Given the description of an element on the screen output the (x, y) to click on. 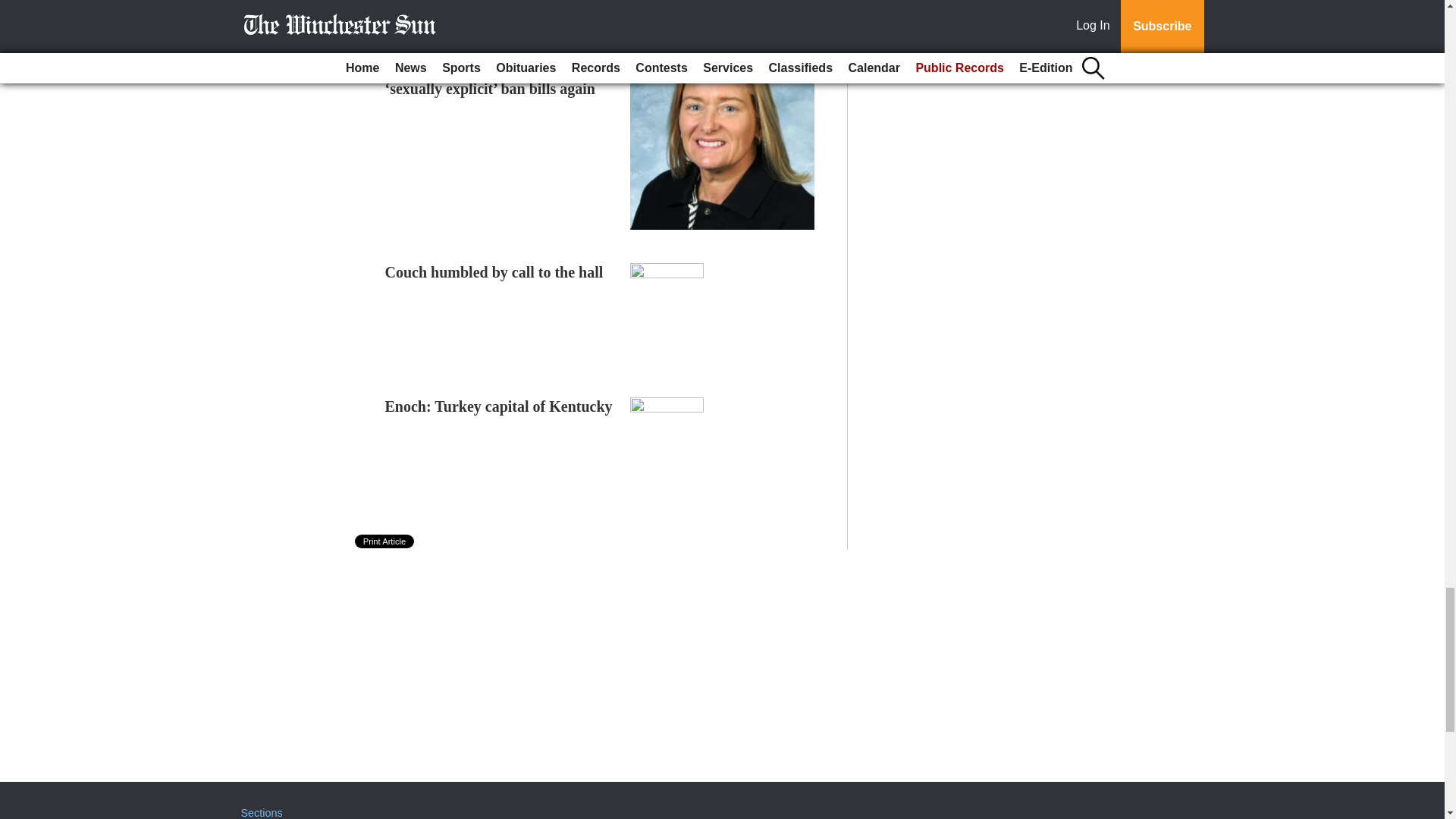
Enoch: Turkey capital of Kentucky (498, 406)
Print Article (384, 540)
Couch humbled by call to the hall (494, 271)
Enoch: Turkey capital of Kentucky (498, 406)
Couch humbled by call to the hall (494, 271)
